Given the description of an element on the screen output the (x, y) to click on. 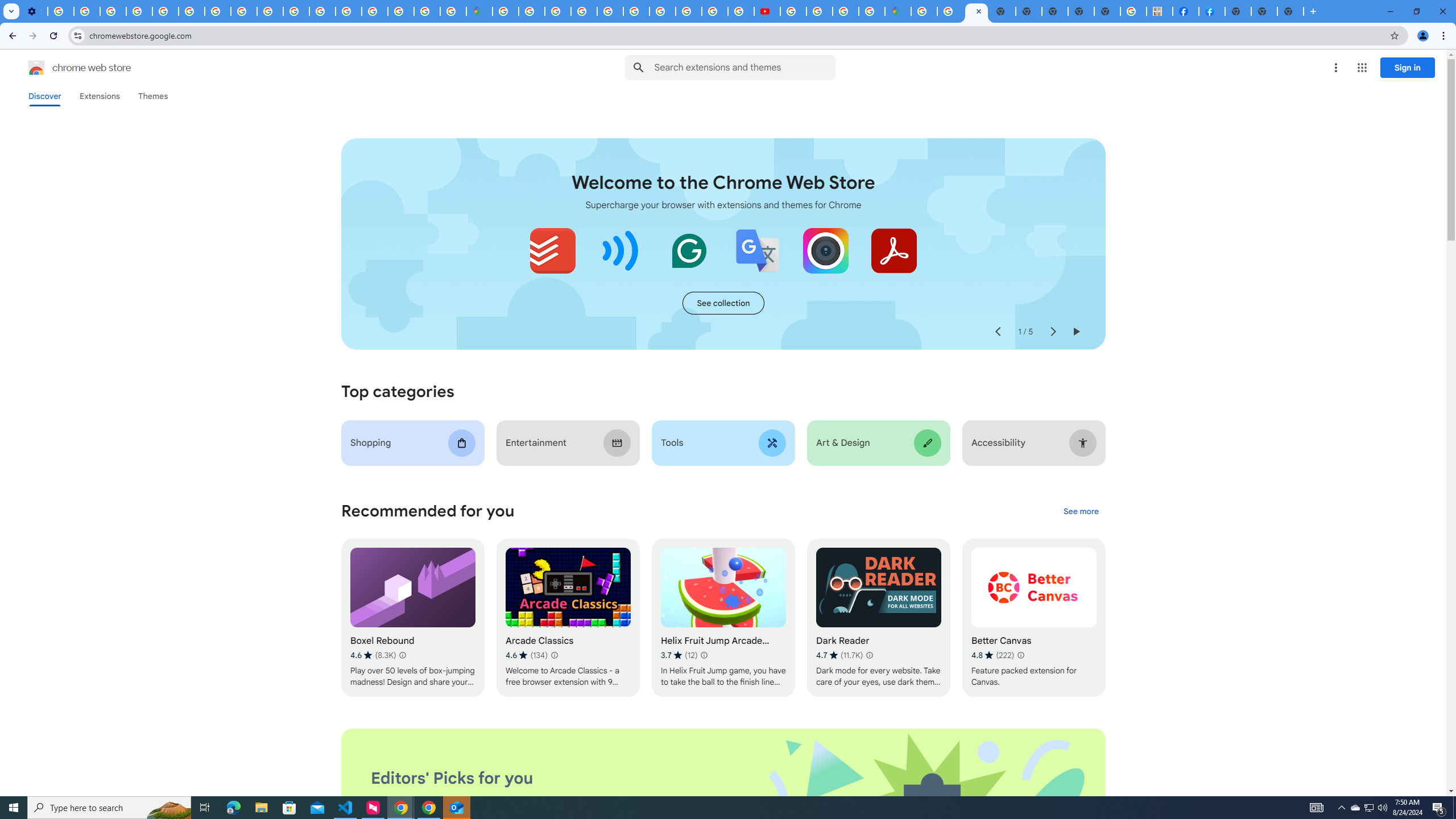
Helix Fruit Jump Arcade Game (722, 617)
Google Account Help (138, 11)
Learn more about results and reviews "Boxel Rebound" (402, 655)
Todoist for Chrome (552, 250)
Volume Master (620, 250)
Terms and Conditions (636, 11)
Arcade Classics (567, 617)
Terms and Conditions (610, 11)
